Given the description of an element on the screen output the (x, y) to click on. 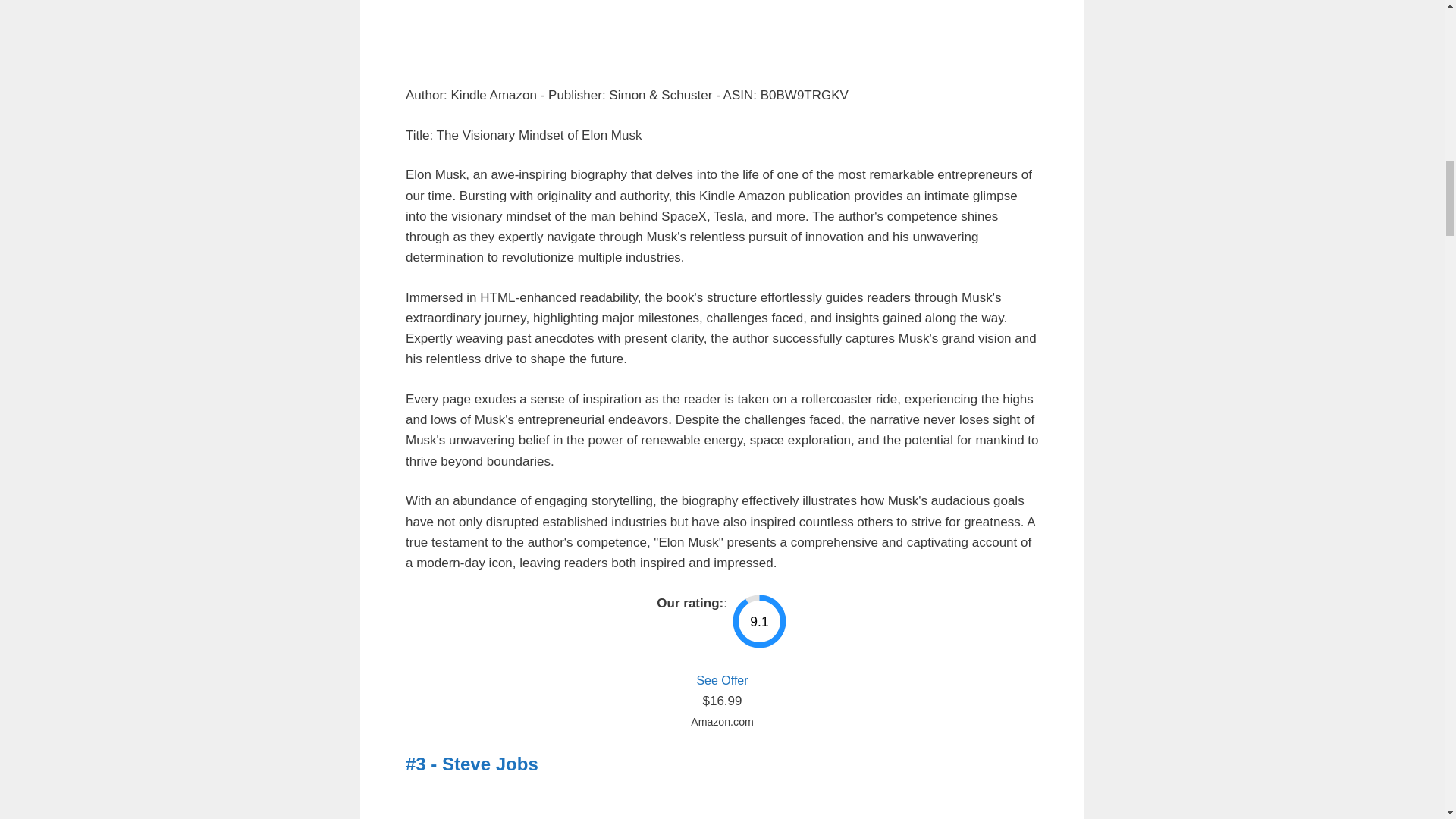
9.1 (758, 621)
See Offer (721, 680)
